Given the description of an element on the screen output the (x, y) to click on. 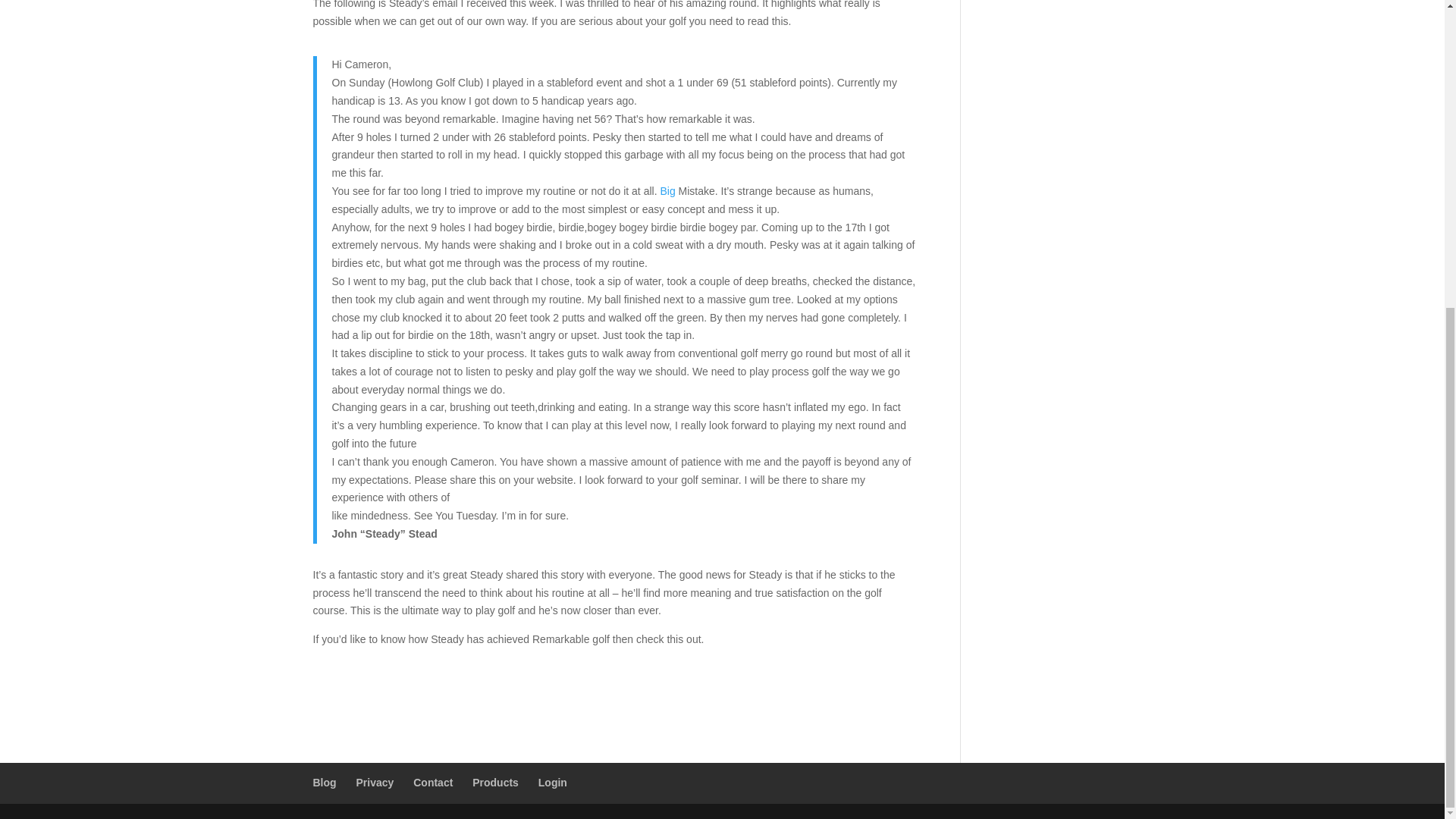
Contact (432, 782)
Privacy (375, 782)
Products (494, 782)
Blog (324, 782)
Big (667, 191)
